Given the description of an element on the screen output the (x, y) to click on. 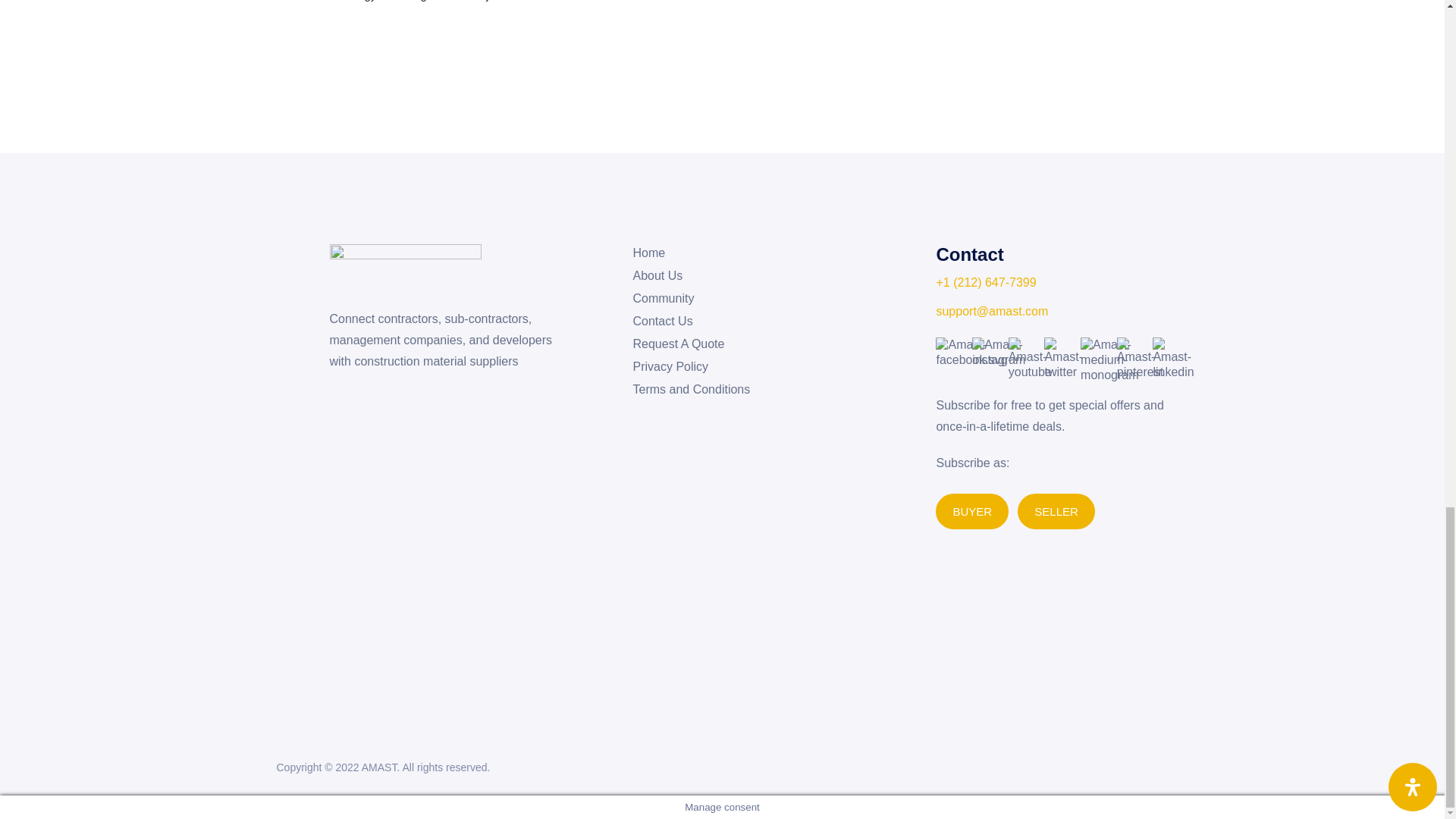
About Us (656, 275)
Terms and Conditions (690, 389)
Privacy Policy (669, 366)
Contact Us (662, 321)
Home (648, 253)
SELLER (1055, 511)
AMAST (379, 767)
Community (662, 298)
Request A Quote (677, 344)
BUYER (972, 511)
